Given the description of an element on the screen output the (x, y) to click on. 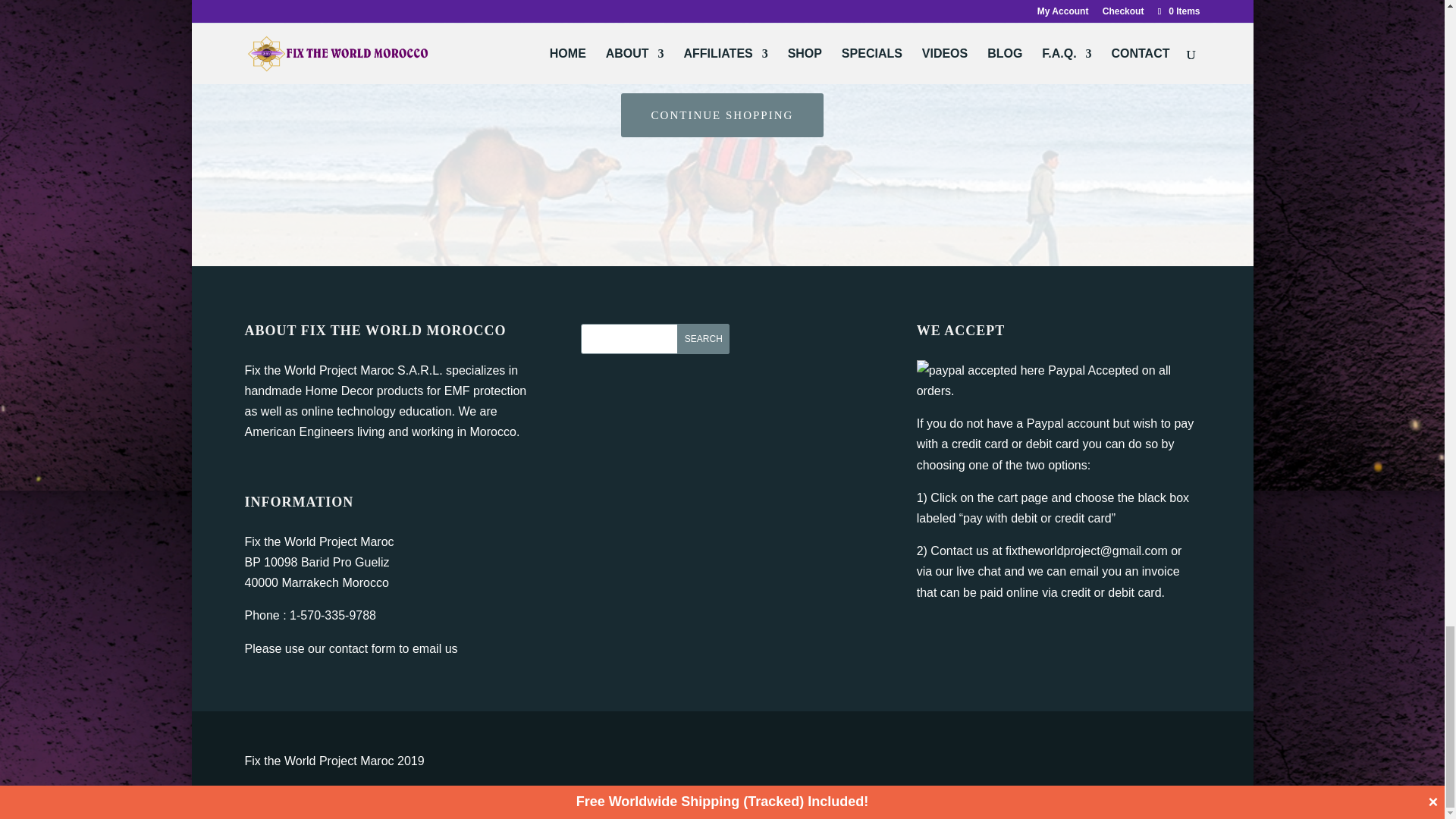
Search (703, 338)
